Given the description of an element on the screen output the (x, y) to click on. 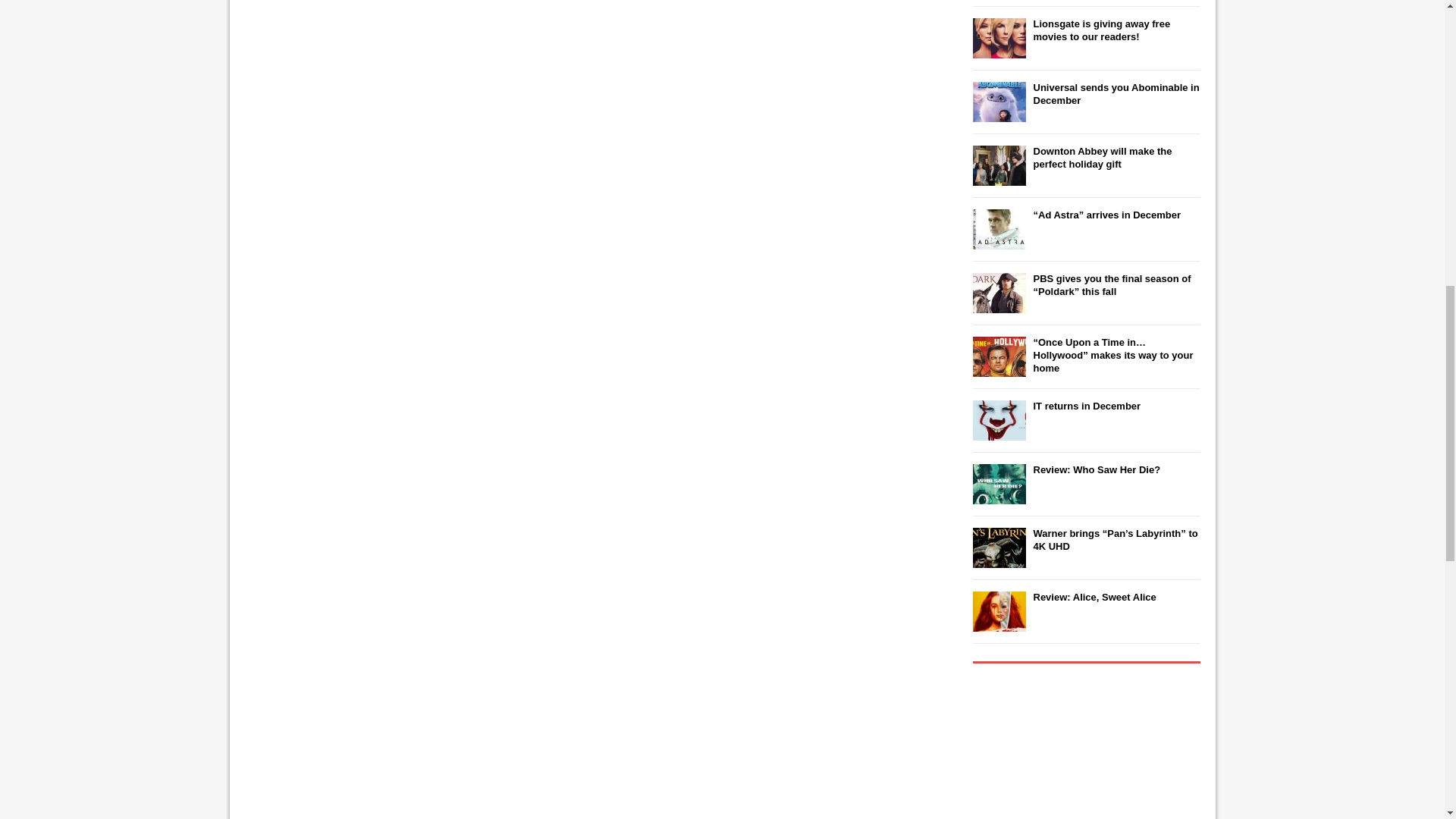
Review: Who Saw Her Die? (1096, 469)
IT returns in December (1086, 405)
Universal sends you Abominable in December (1115, 93)
Downton Abbey will make the perfect holiday gift (1102, 157)
Lionsgate is giving away free movies to our readers! (1101, 30)
